Given the description of an element on the screen output the (x, y) to click on. 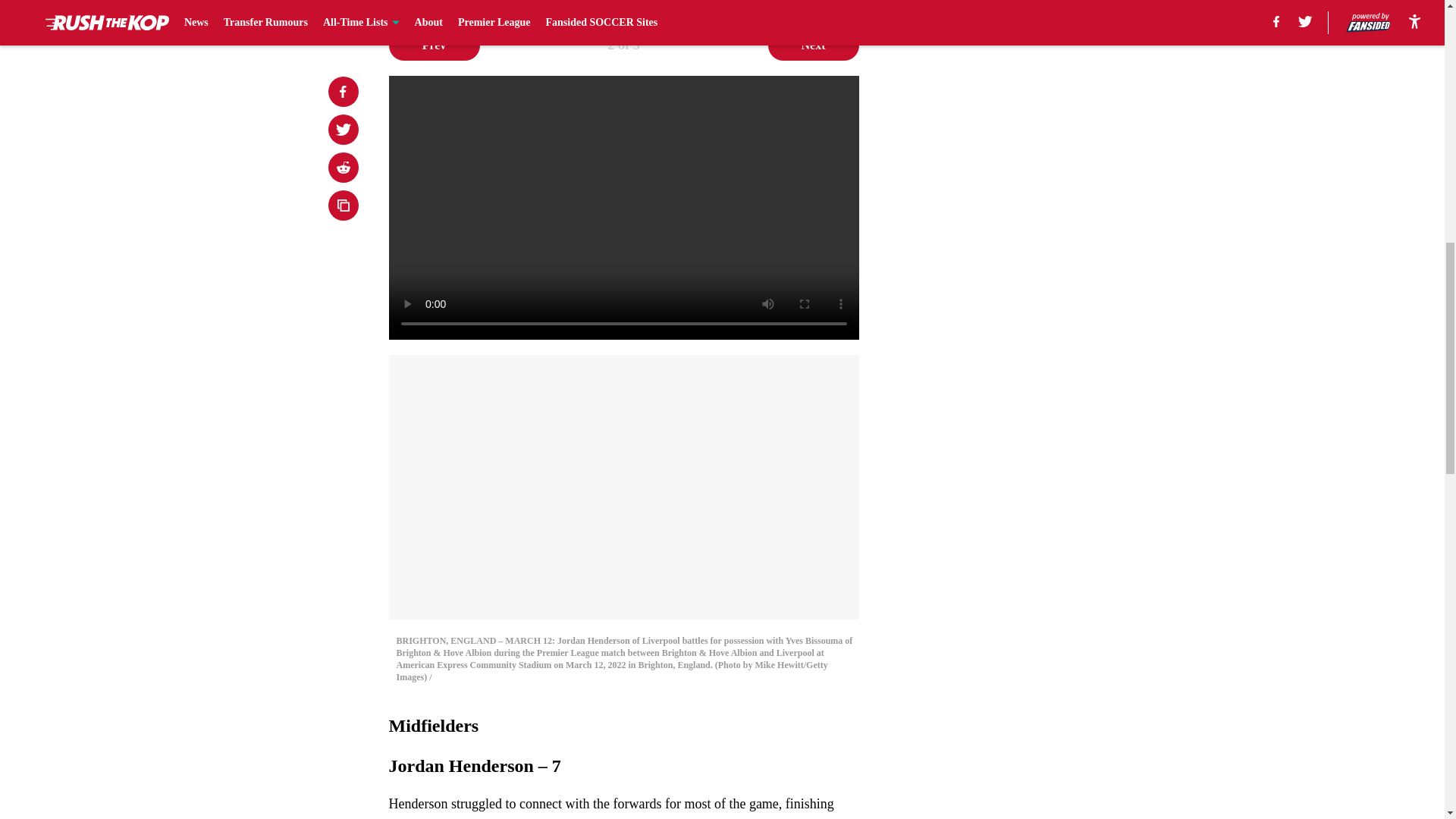
Prev (433, 45)
3rd party ad content (1047, 344)
Next (813, 45)
3rd party ad content (1047, 125)
